Given the description of an element on the screen output the (x, y) to click on. 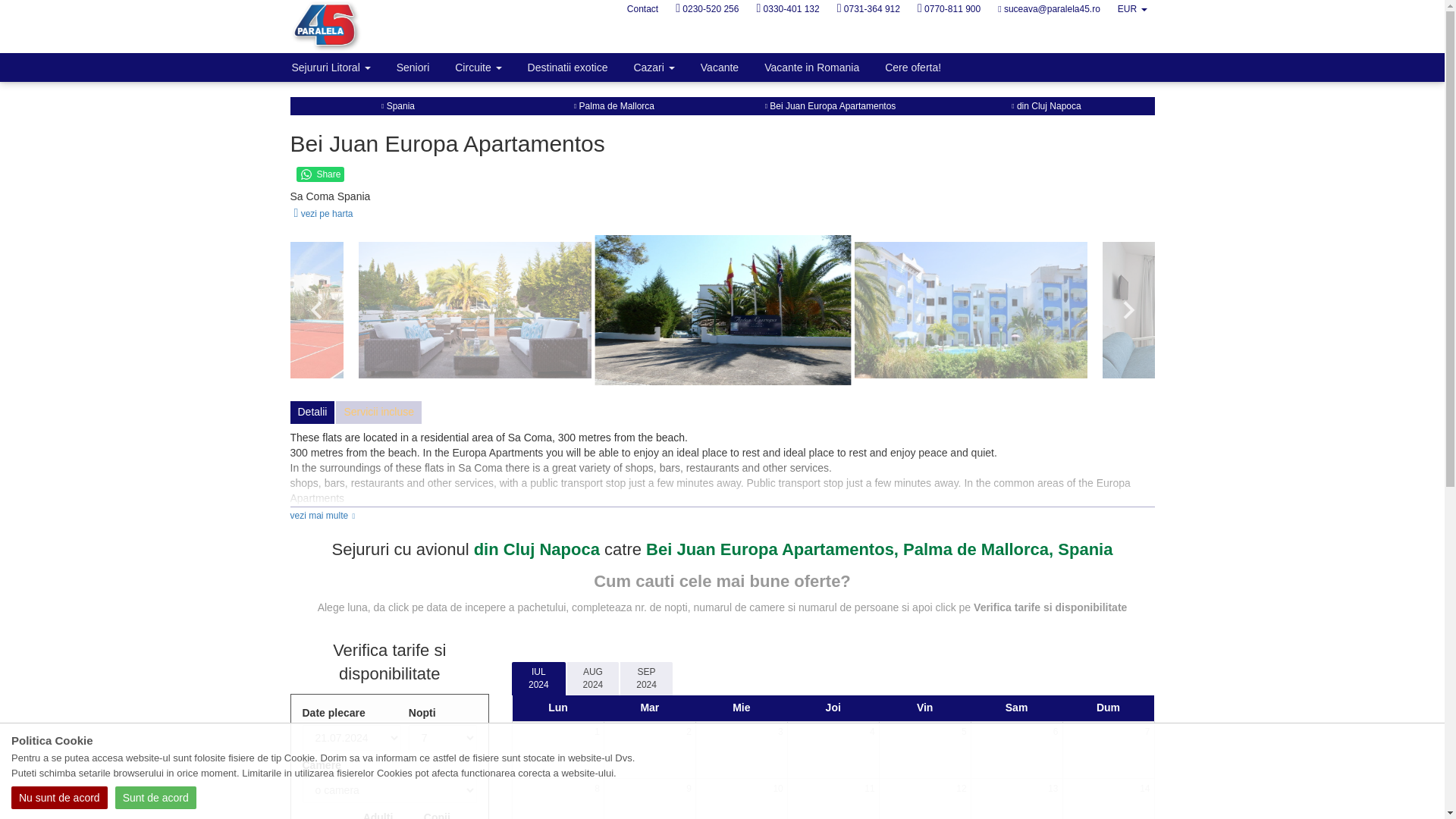
EUR (1131, 9)
Sejururi Litoral (331, 67)
0770-811 900 (949, 9)
Palma de Mallorca (613, 105)
Bei Juan Europa Apartamentos (830, 105)
Cazari (653, 67)
din Cluj Napoca (1045, 105)
Spania (397, 105)
0230-520 256 (706, 9)
0330-401 132 (787, 9)
vezi pe harta (320, 213)
Circuite (477, 67)
0731-364 912 (868, 9)
Quick-Sell Logo (367, 26)
Contact (642, 9)
